Given the description of an element on the screen output the (x, y) to click on. 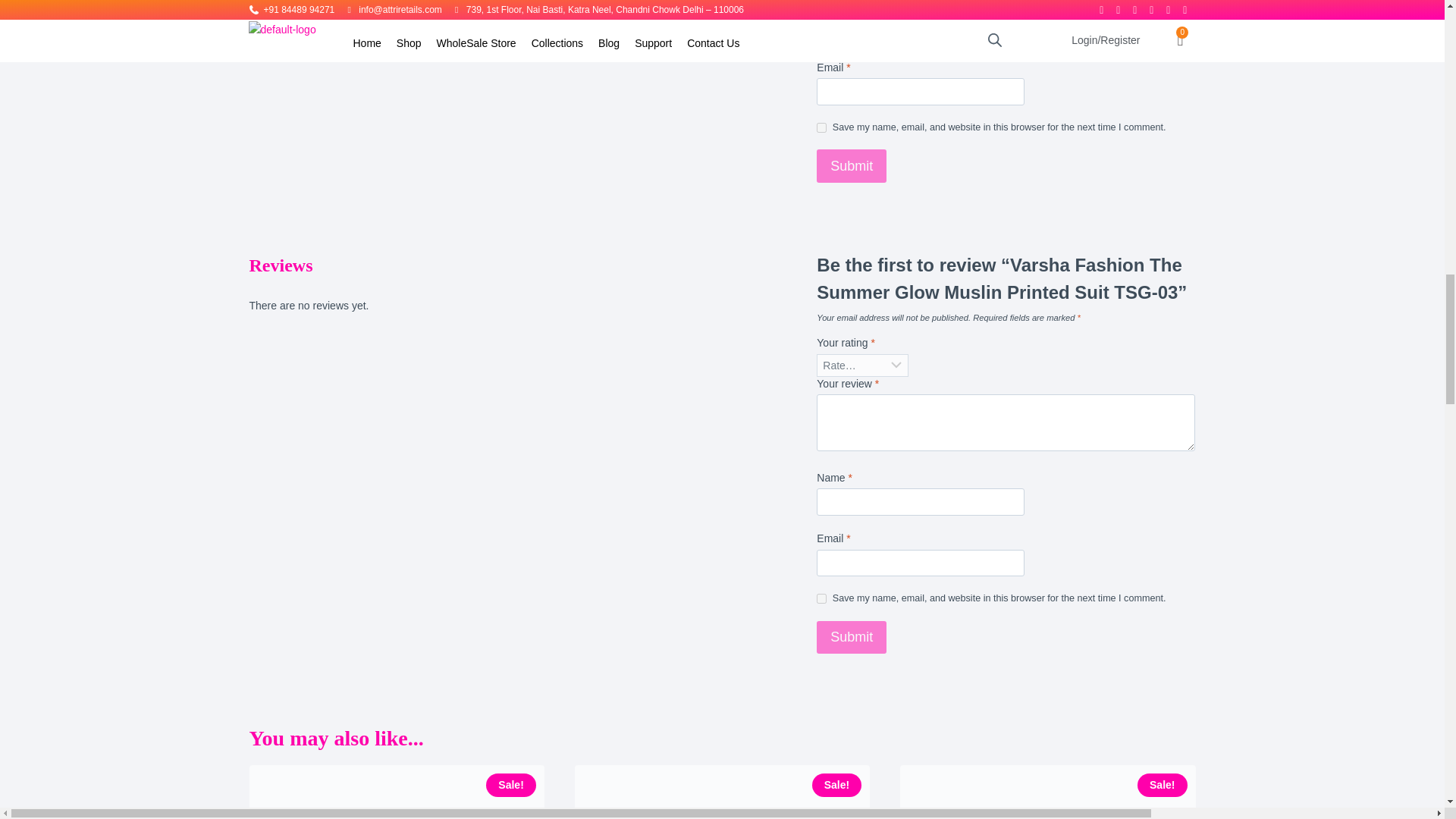
Submit (851, 636)
yes (821, 598)
yes (821, 127)
Submit (851, 165)
